Given the description of an element on the screen output the (x, y) to click on. 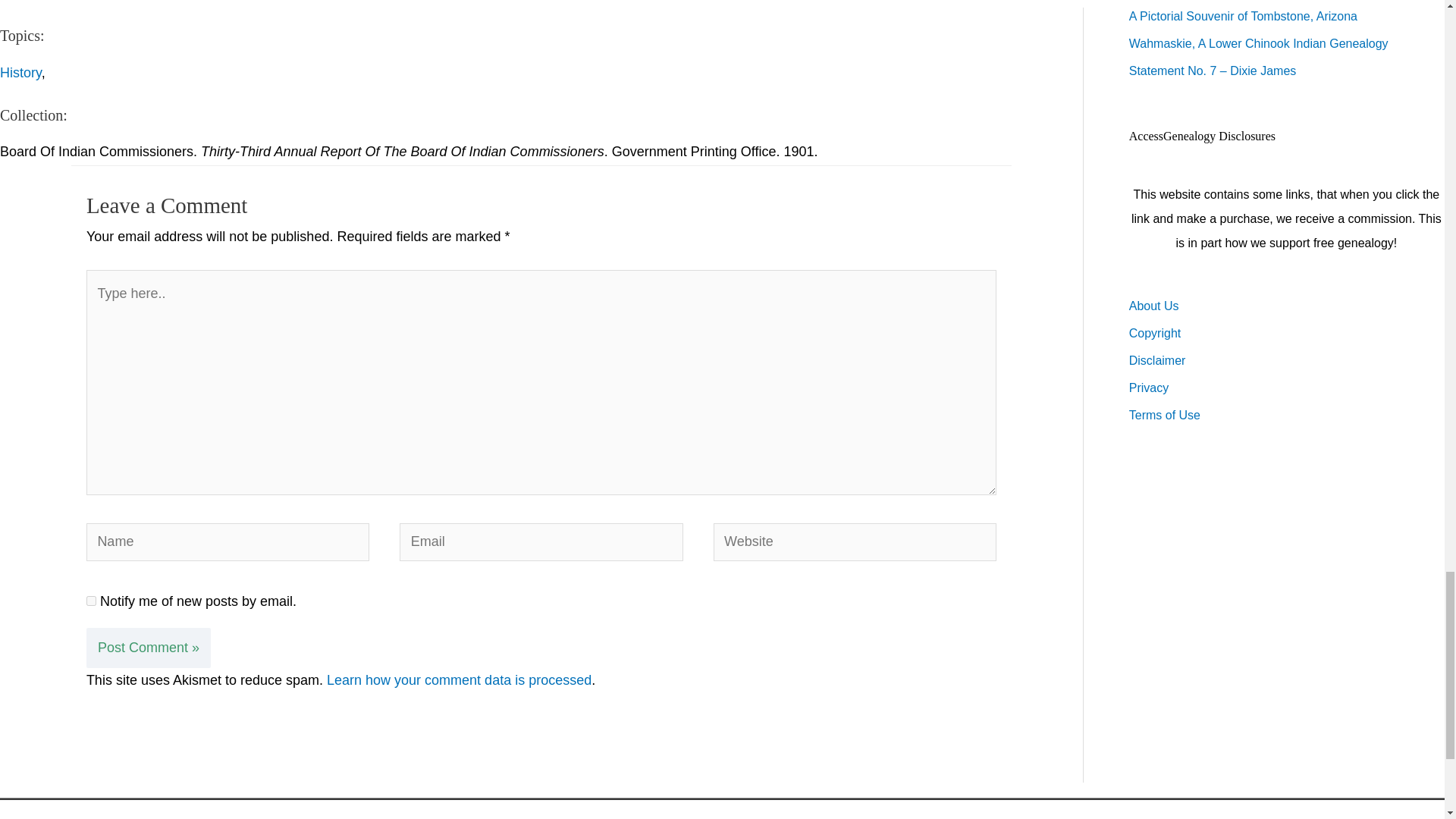
subscribe (90, 601)
History (21, 72)
Learn how your comment data is processed (458, 679)
